Given the description of an element on the screen output the (x, y) to click on. 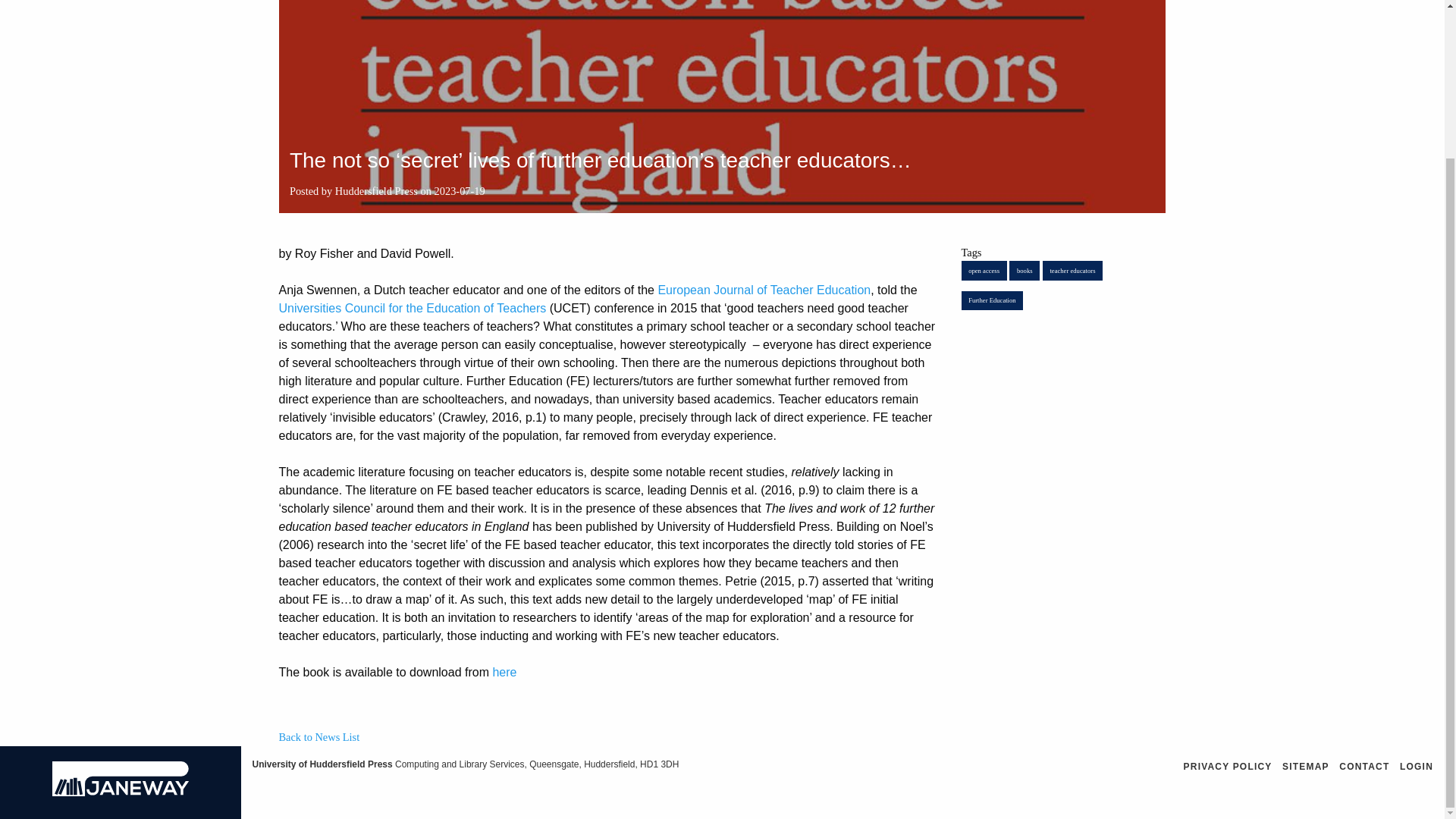
Janeway-Logo-Final (120, 778)
SITEMAP (1305, 766)
books (1024, 270)
Janeway-Logo-Final (120, 792)
here (504, 671)
European Journal of Teacher Education (764, 289)
teacher educators (1072, 270)
Further Education (991, 300)
Back to News List (319, 736)
PRIVACY POLICY (1227, 766)
